Given the description of an element on the screen output the (x, y) to click on. 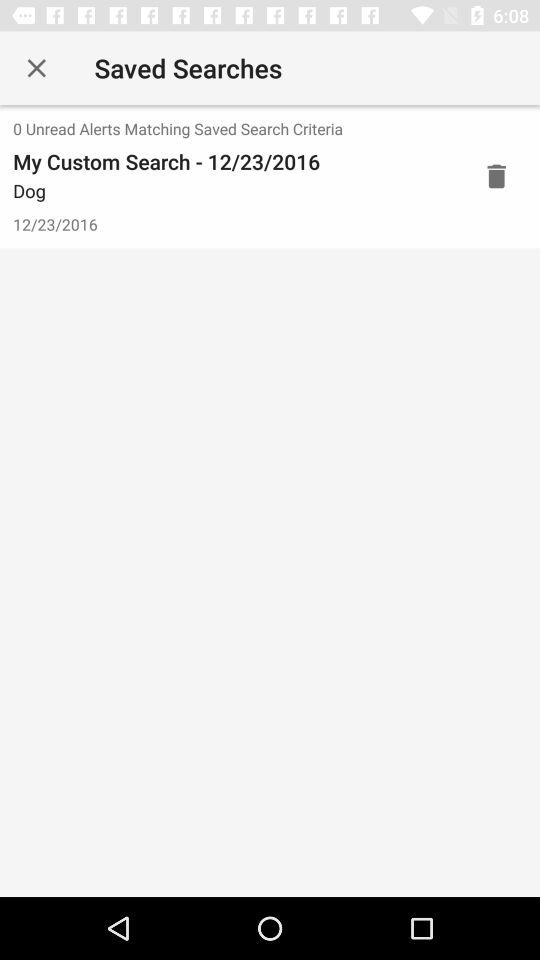
press icon at the top right corner (496, 176)
